Given the description of an element on the screen output the (x, y) to click on. 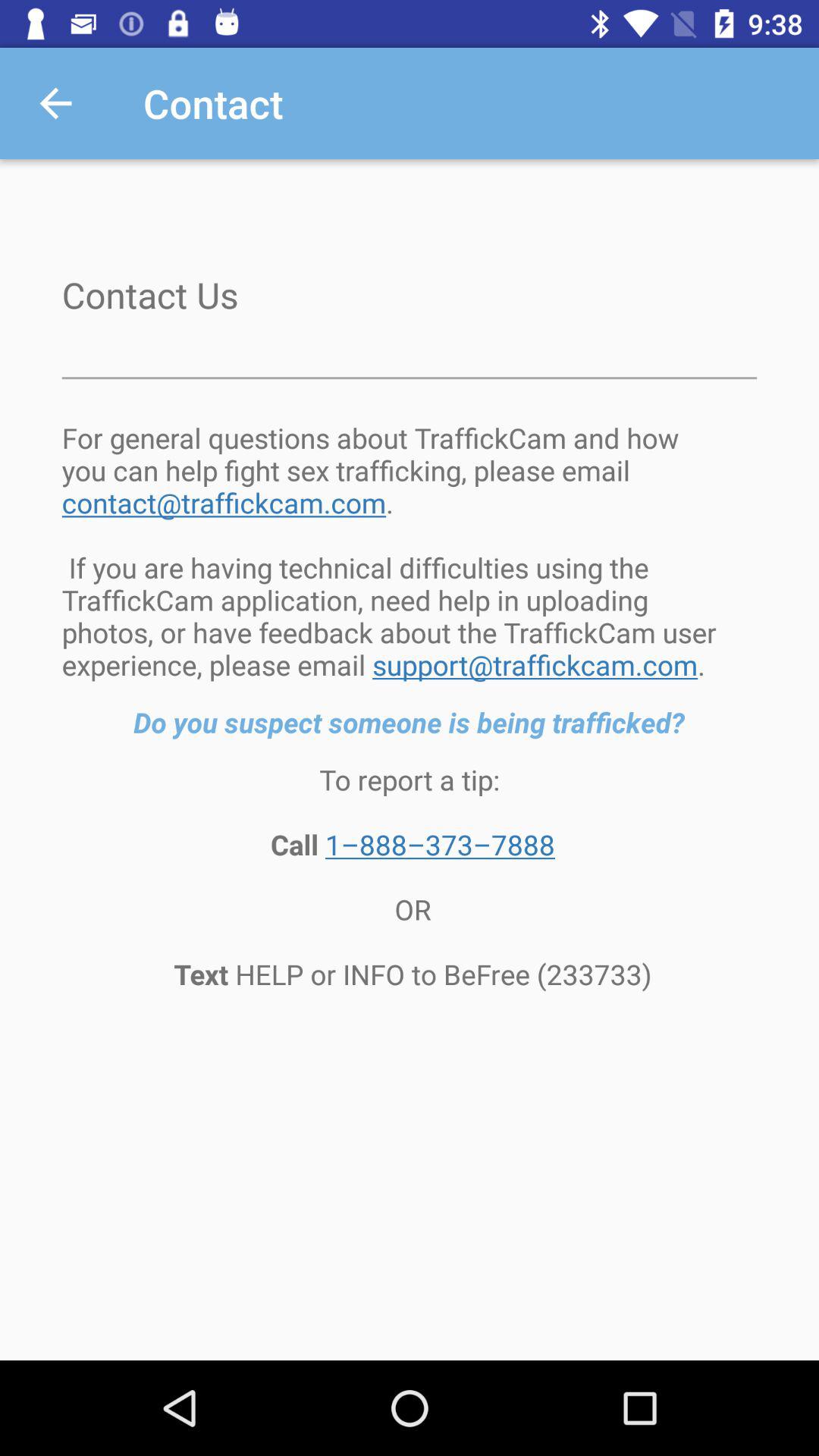
scroll to to report a icon (409, 876)
